Given the description of an element on the screen output the (x, y) to click on. 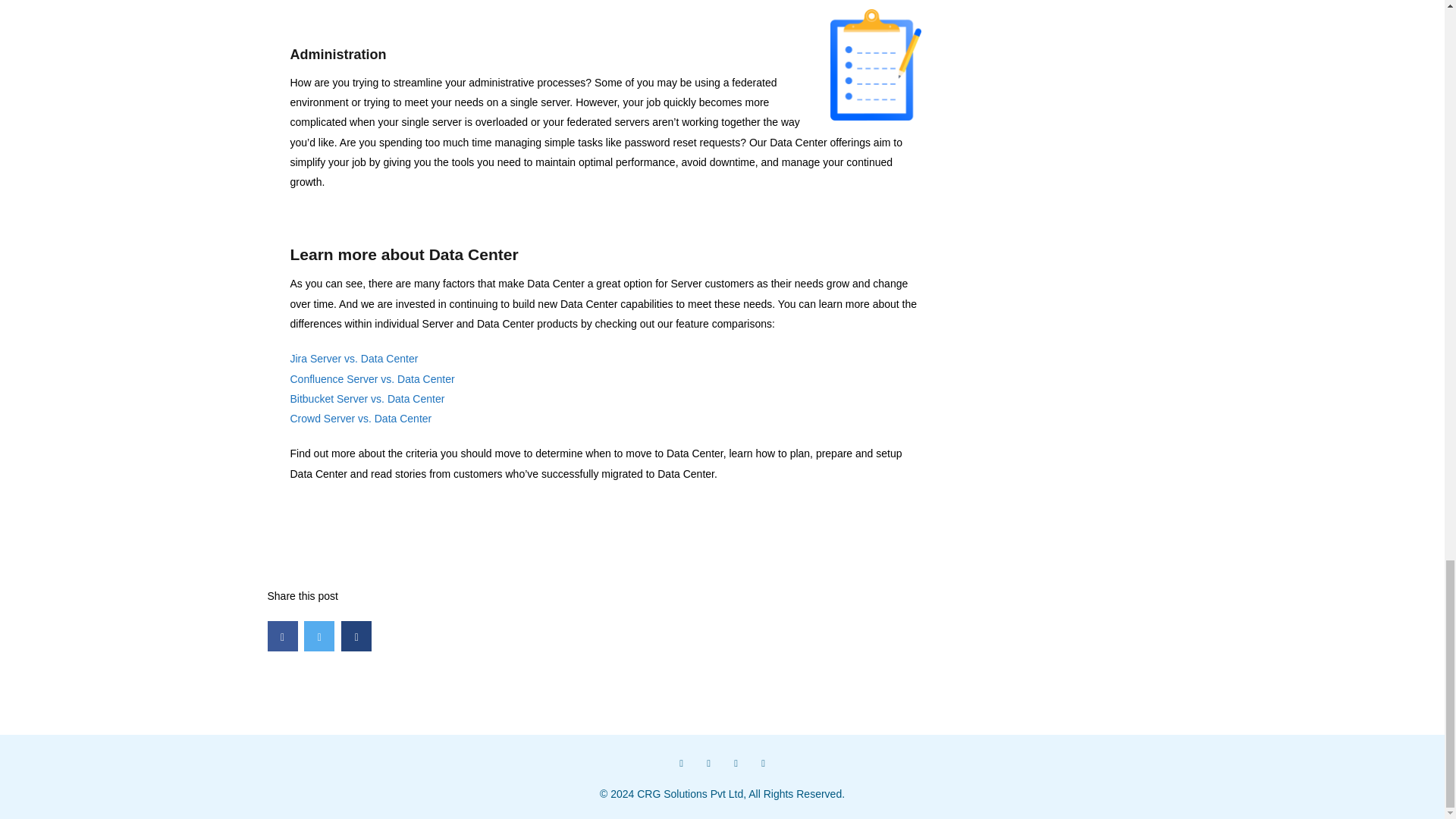
Facebook (680, 763)
YouTube (762, 763)
linkedin (735, 763)
Twitter (708, 763)
